Given the description of an element on the screen output the (x, y) to click on. 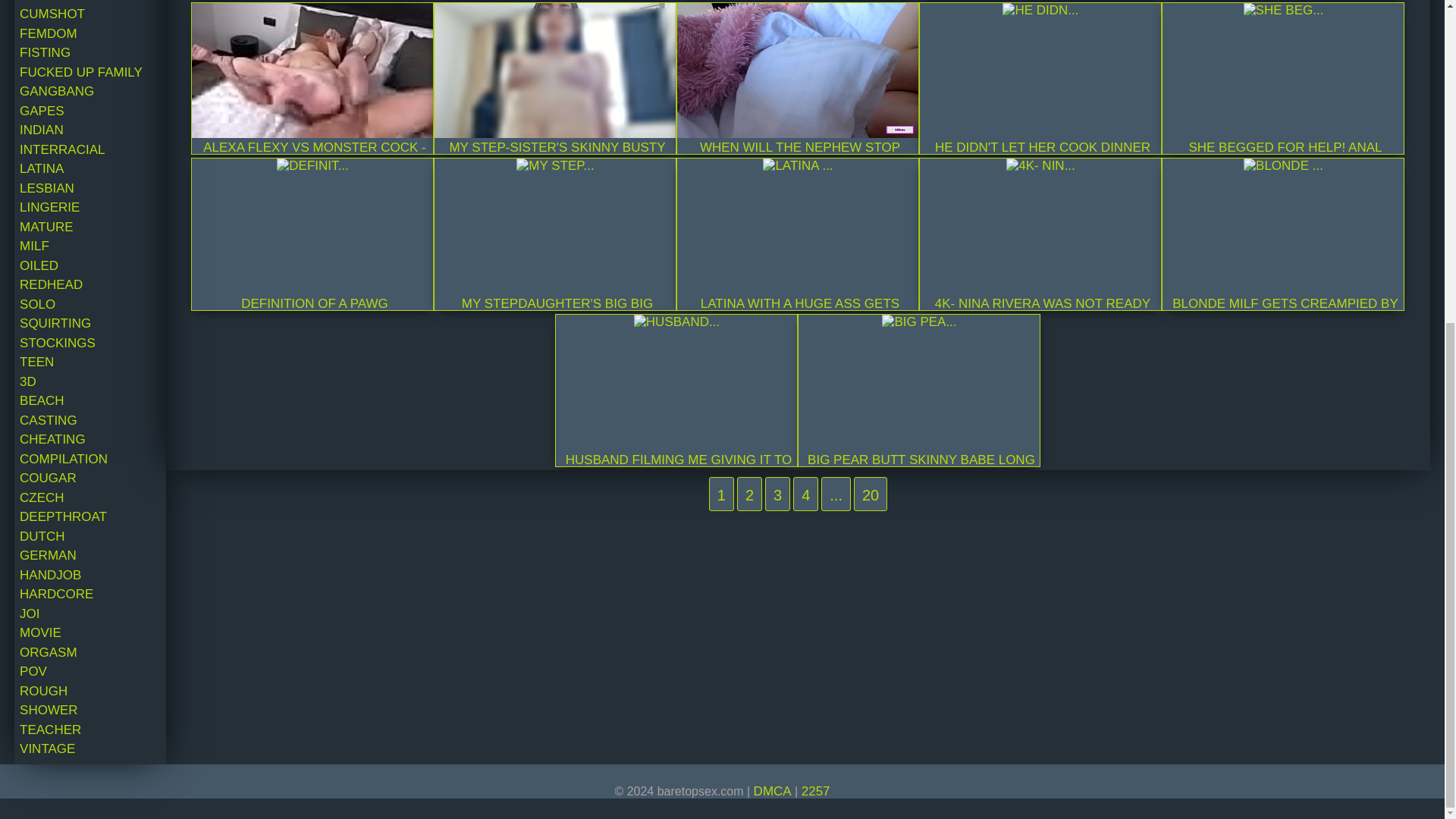
Alexa Flexy VS Monster Cock - Non Stop Anal Fuck (312, 70)
He didn't let her cook dinner and enjoyed her body (1040, 10)
When Will The Nephew Stop Fucking His Own Step-Aunt? (797, 70)
She begged for help! ANAL ORAL FUCKING STEPMOTHER! (1283, 10)
